Given the description of an element on the screen output the (x, y) to click on. 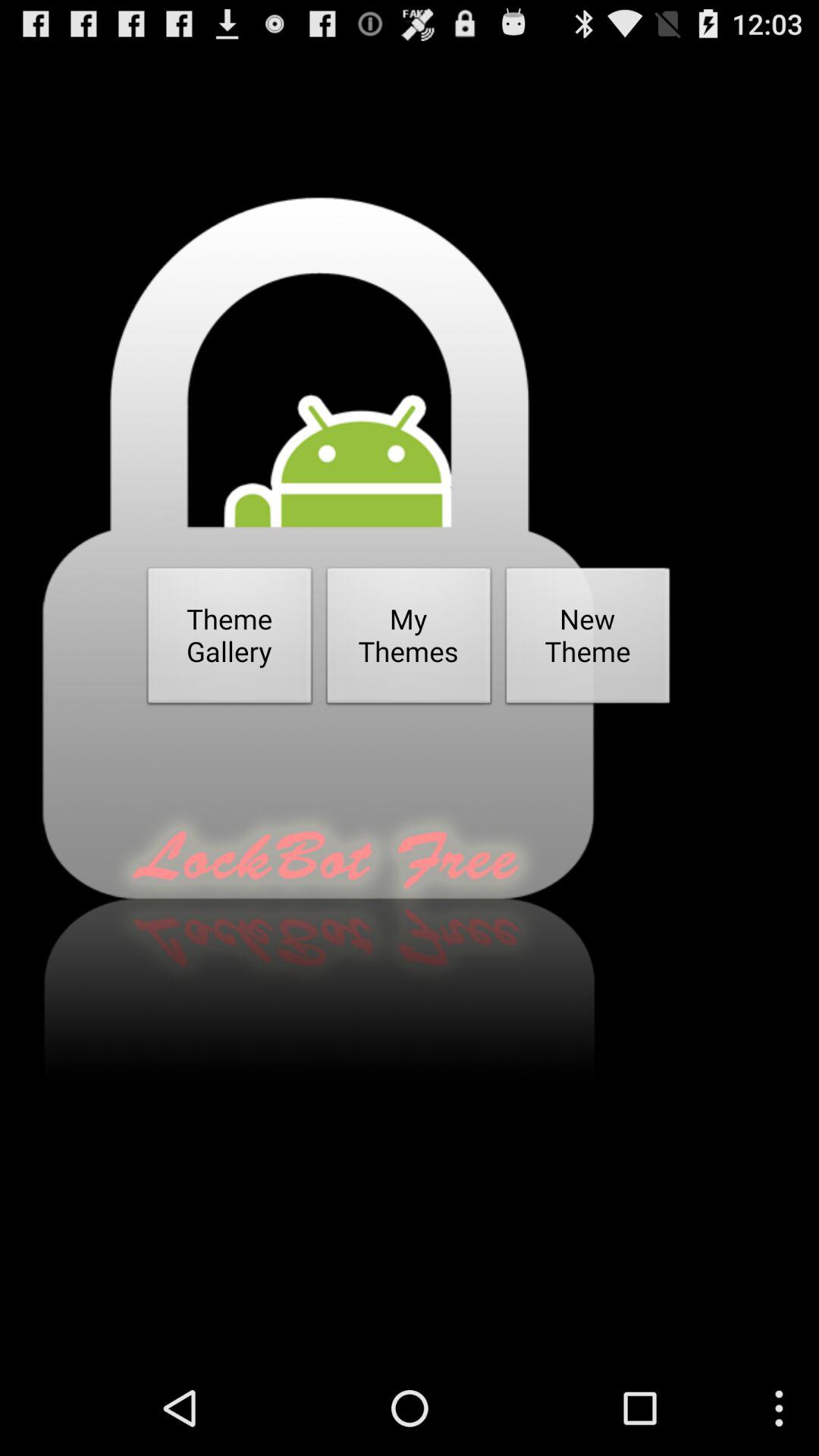
press new theme item (587, 639)
